Given the description of an element on the screen output the (x, y) to click on. 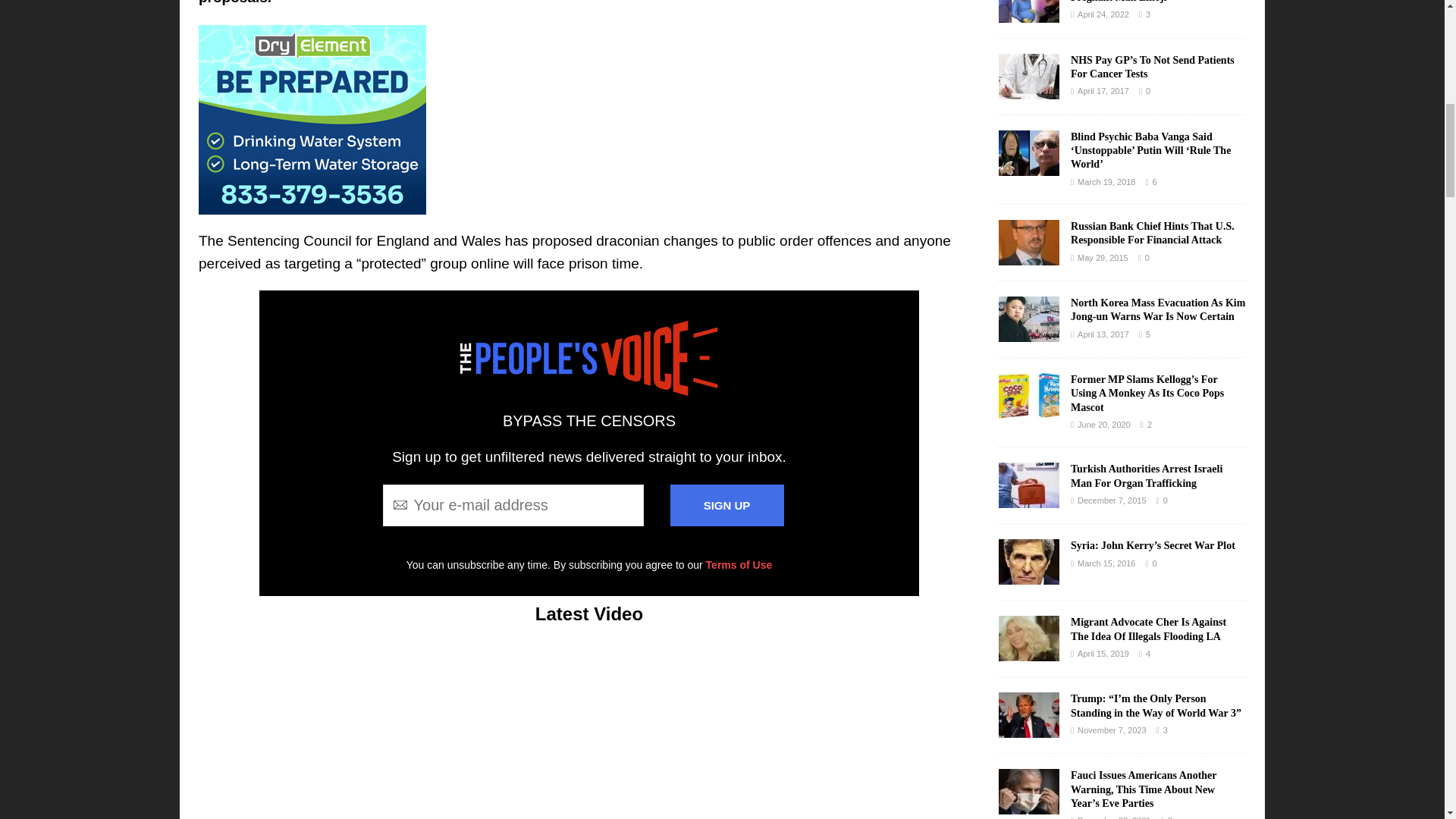
SIGN UP (726, 505)
